Given the description of an element on the screen output the (x, y) to click on. 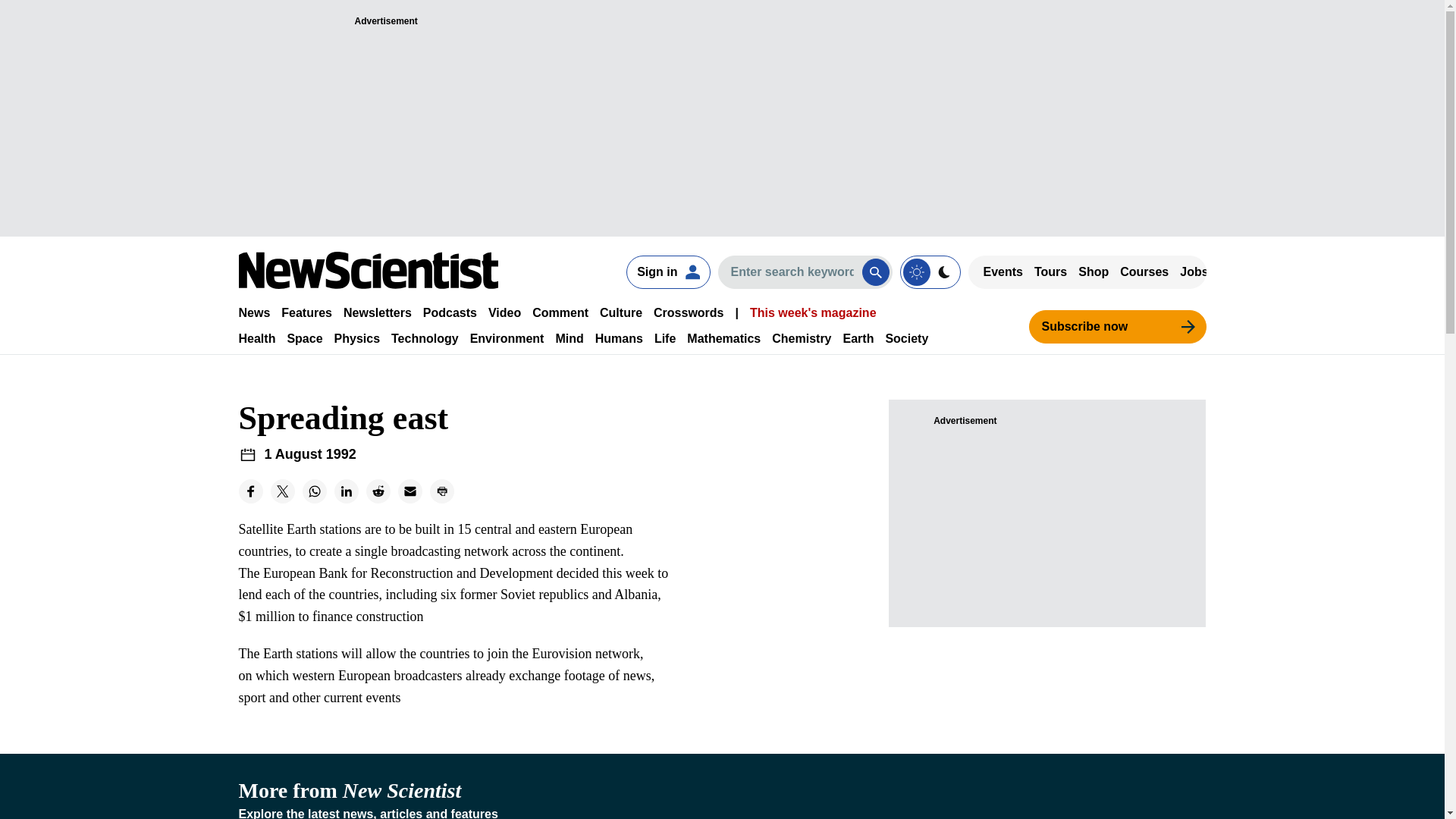
Earth (859, 338)
Jobs (1193, 272)
Calendar icon (247, 454)
This week's magazine (812, 313)
Video (504, 313)
Mathematics (723, 338)
Space (303, 338)
Health (256, 338)
Tours (1050, 272)
Culture (620, 313)
Sign in (668, 272)
Environment (507, 338)
Life (664, 338)
Courses (1144, 272)
News (253, 313)
